Given the description of an element on the screen output the (x, y) to click on. 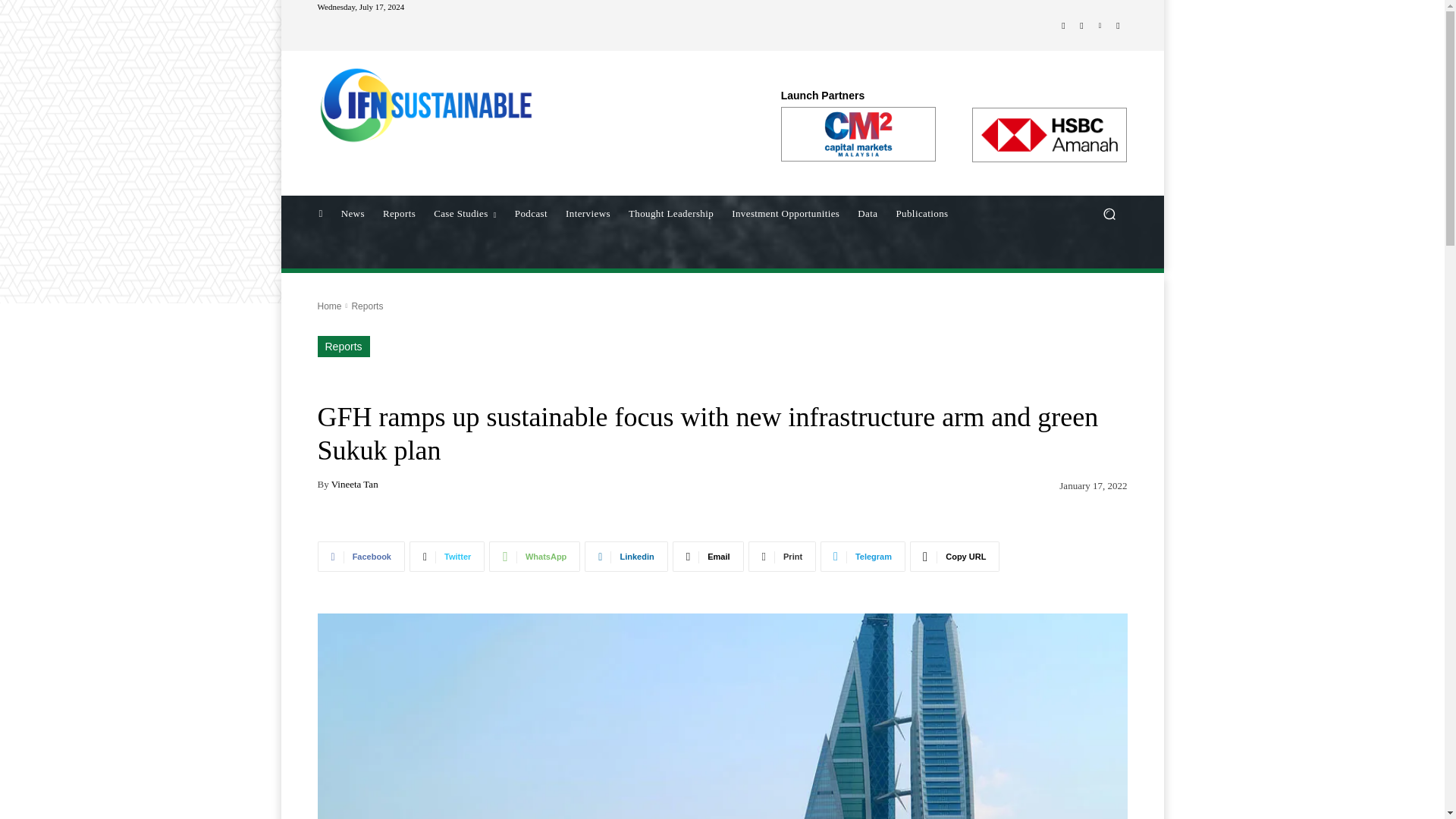
Investment Opportunities (785, 213)
Interviews (588, 213)
Data (867, 213)
View all posts in Reports (366, 306)
Publications (921, 213)
News (352, 213)
Instagram (1080, 25)
Twitter (1117, 25)
Reports (399, 213)
Facebook (1062, 25)
Linkedin (1099, 25)
hsbc-amanah (1048, 134)
Podcast (530, 213)
Case Studies (465, 213)
Thought Leadership (671, 213)
